Given the description of an element on the screen output the (x, y) to click on. 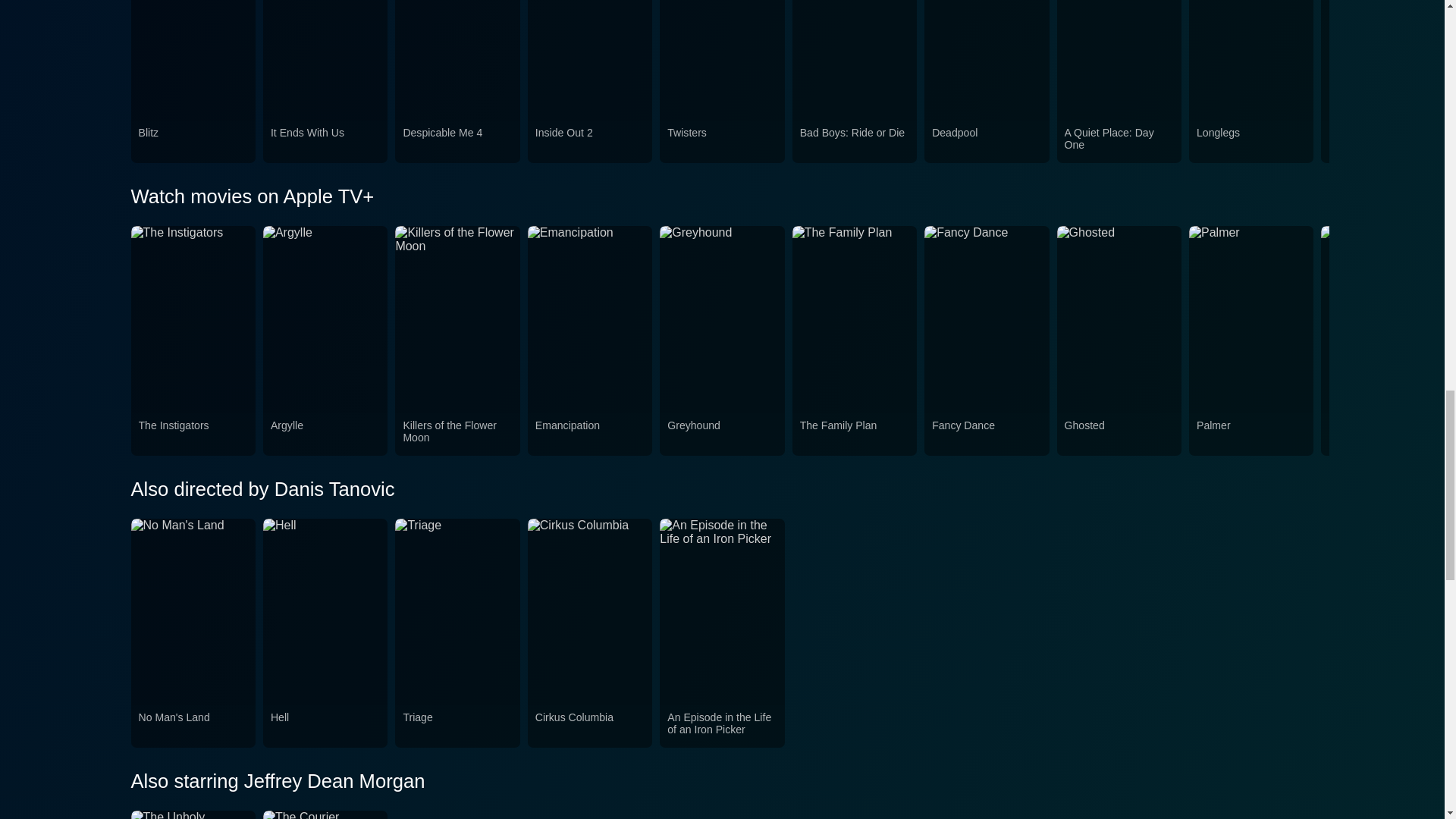
Bad Boys: Ride or Die (853, 141)
Twisters (721, 141)
Inside Out 2 (590, 141)
It Ends With Us (325, 141)
Blitz (192, 141)
Despicable Me 4 (457, 141)
